Given the description of an element on the screen output the (x, y) to click on. 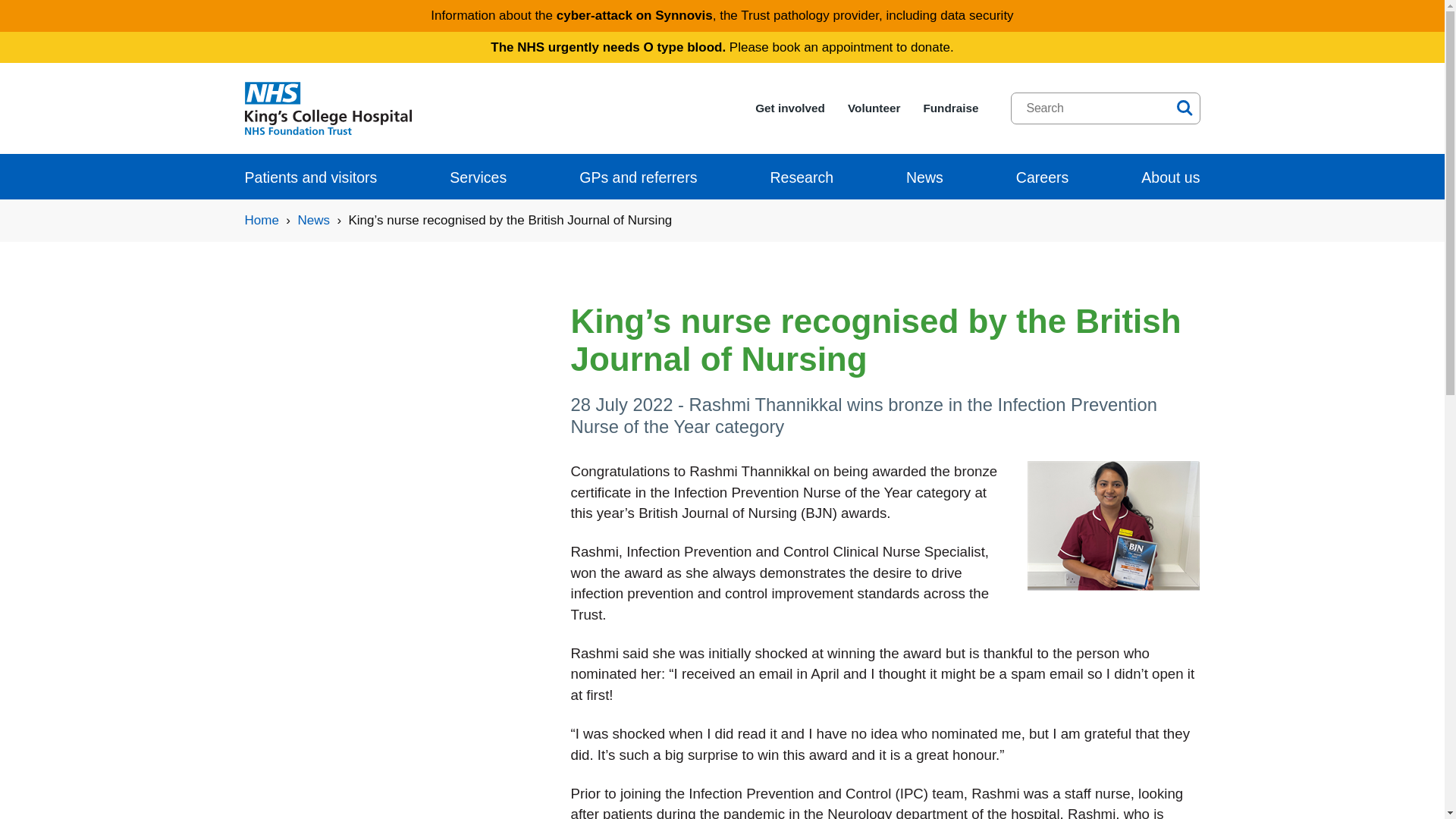
Go to King's College Hospital NHS Foundation Trust. (261, 219)
Careers (1042, 177)
About us (1170, 177)
Volunteer (873, 108)
News (924, 177)
Research (801, 177)
Go to the News Category archives. (313, 219)
News (313, 219)
Fundraise (950, 108)
GPs and referrers (638, 177)
